Given the description of an element on the screen output the (x, y) to click on. 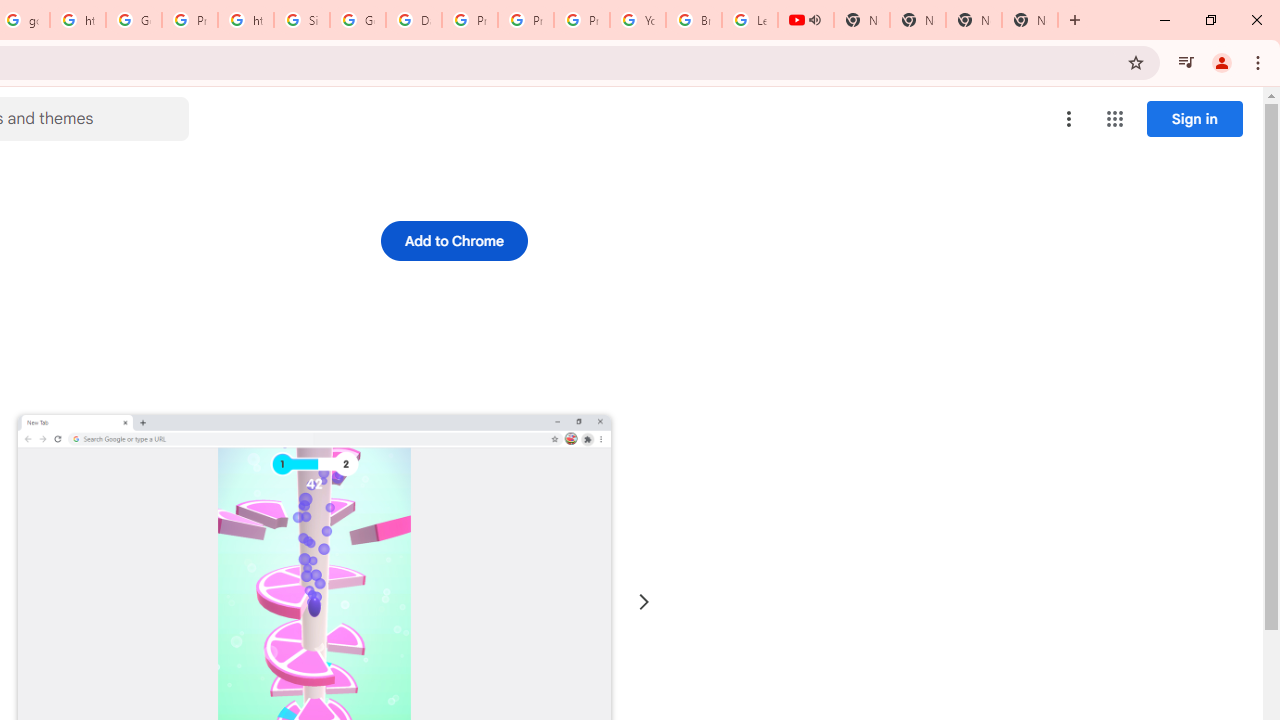
Next slide (643, 601)
More options menu (1069, 118)
Privacy Help Center - Policies Help (525, 20)
https://scholar.google.com/ (77, 20)
Add to Chrome (453, 240)
https://scholar.google.com/ (245, 20)
New Tab (1030, 20)
